Given the description of an element on the screen output the (x, y) to click on. 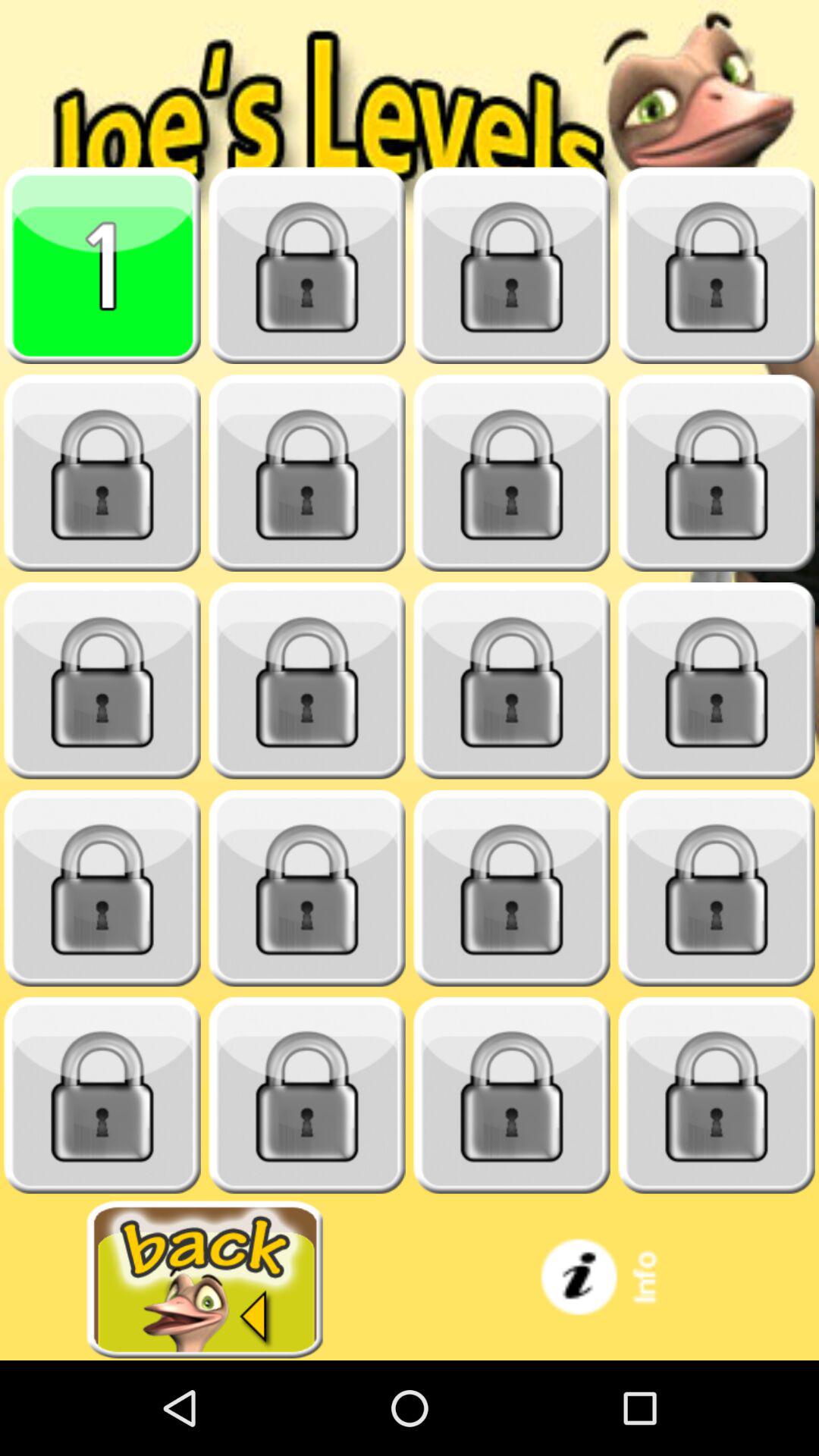
select level (716, 1094)
